Given the description of an element on the screen output the (x, y) to click on. 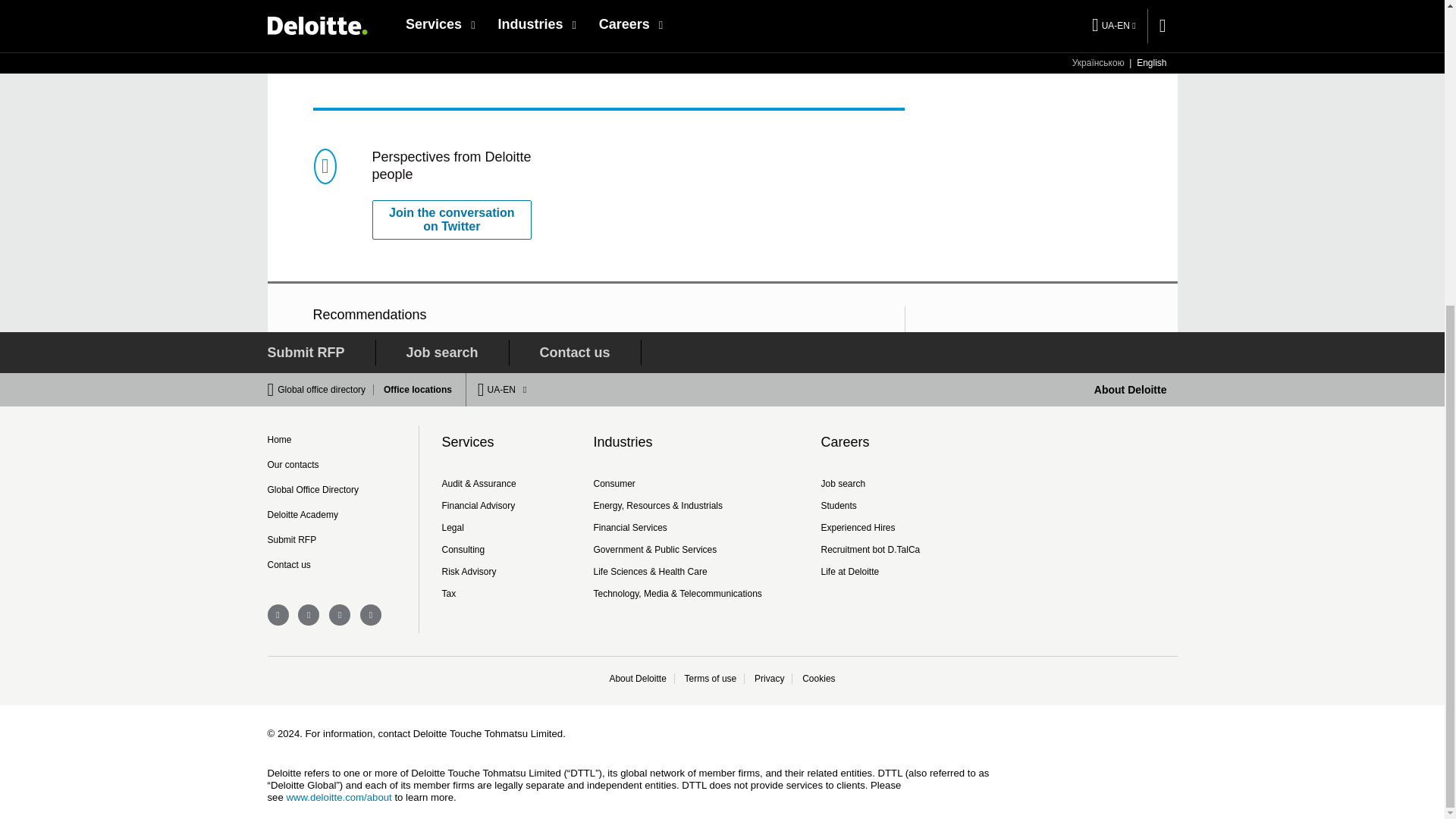
deloitte ukraine (277, 614)
About Deloitte (1130, 389)
deloitte ukraine (370, 614)
Global office directory (326, 389)
deloitte ukraine (339, 614)
deloitte ukraine (308, 614)
Office locations (413, 389)
